Given the description of an element on the screen output the (x, y) to click on. 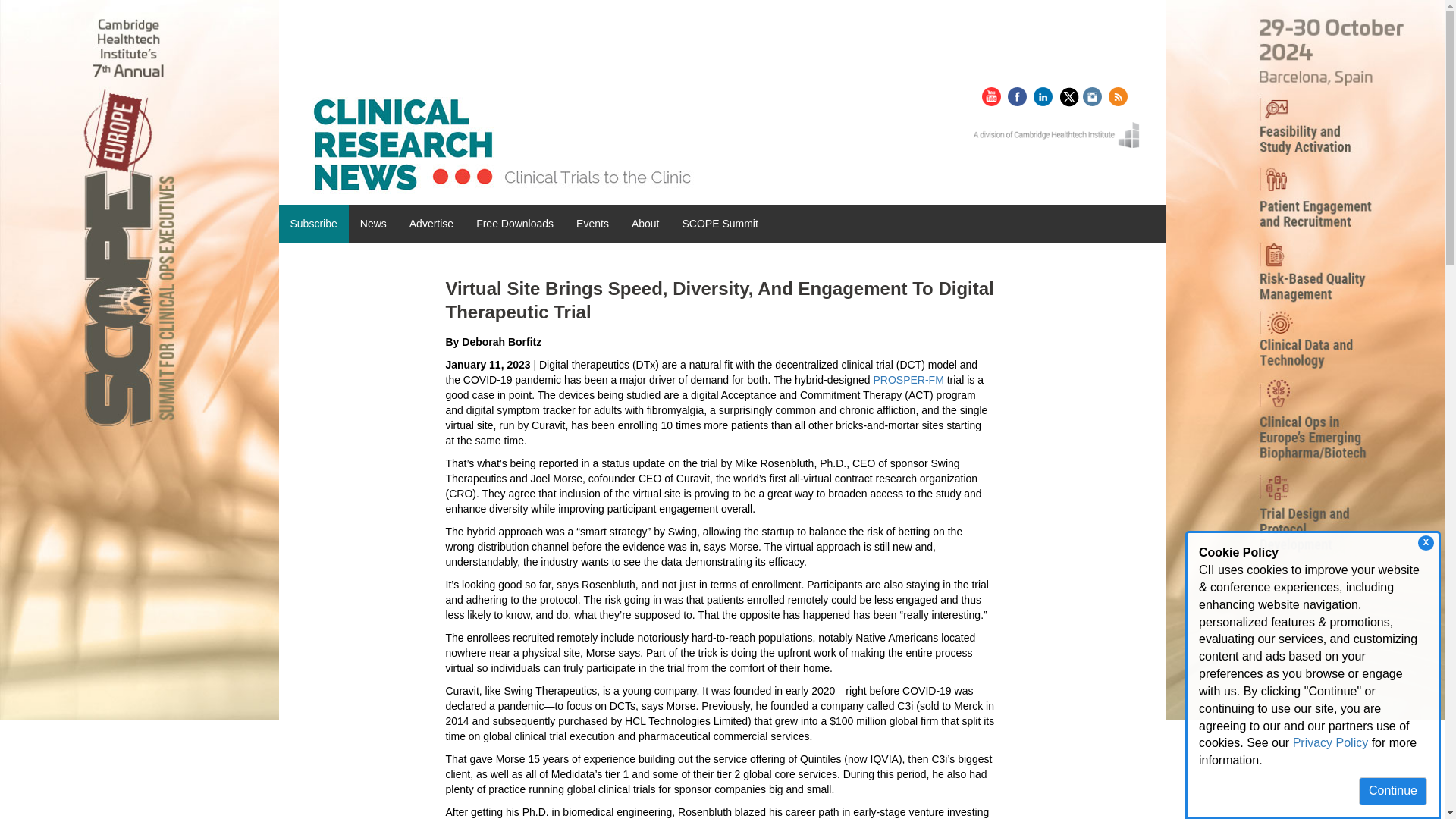
Instagram (1094, 93)
Free Downloads (514, 223)
Advertise (430, 223)
Twitter (1071, 93)
3rd party ad content (358, 640)
LinkedIn (1045, 93)
Continue (1392, 791)
Twitter (1071, 95)
Clinical Research News Online (501, 143)
3rd party ad content (358, 775)
